Given the description of an element on the screen output the (x, y) to click on. 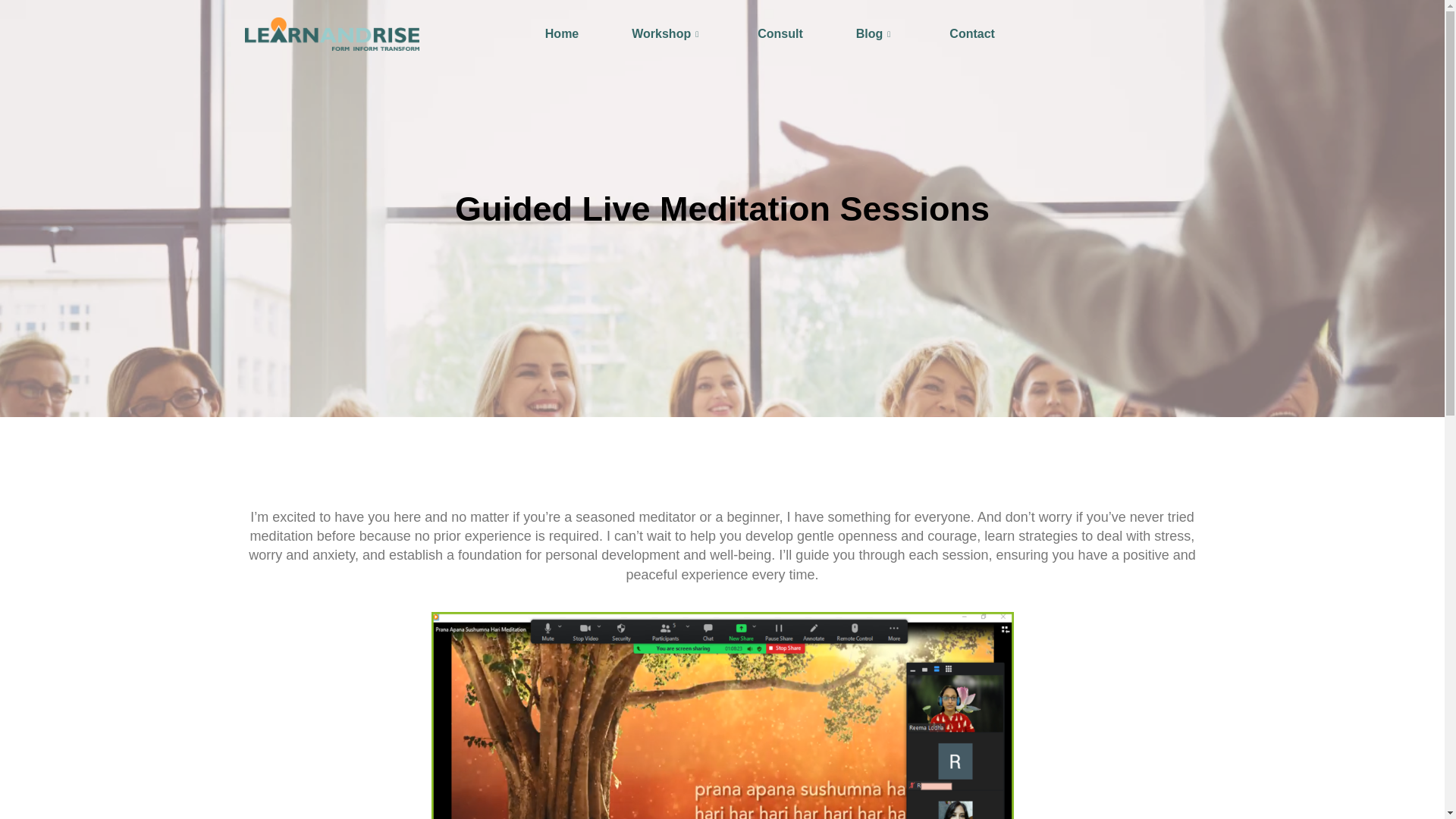
Contact (972, 33)
Consult (779, 33)
Workshop (667, 33)
Blog (876, 33)
Home (561, 33)
